Given the description of an element on the screen output the (x, y) to click on. 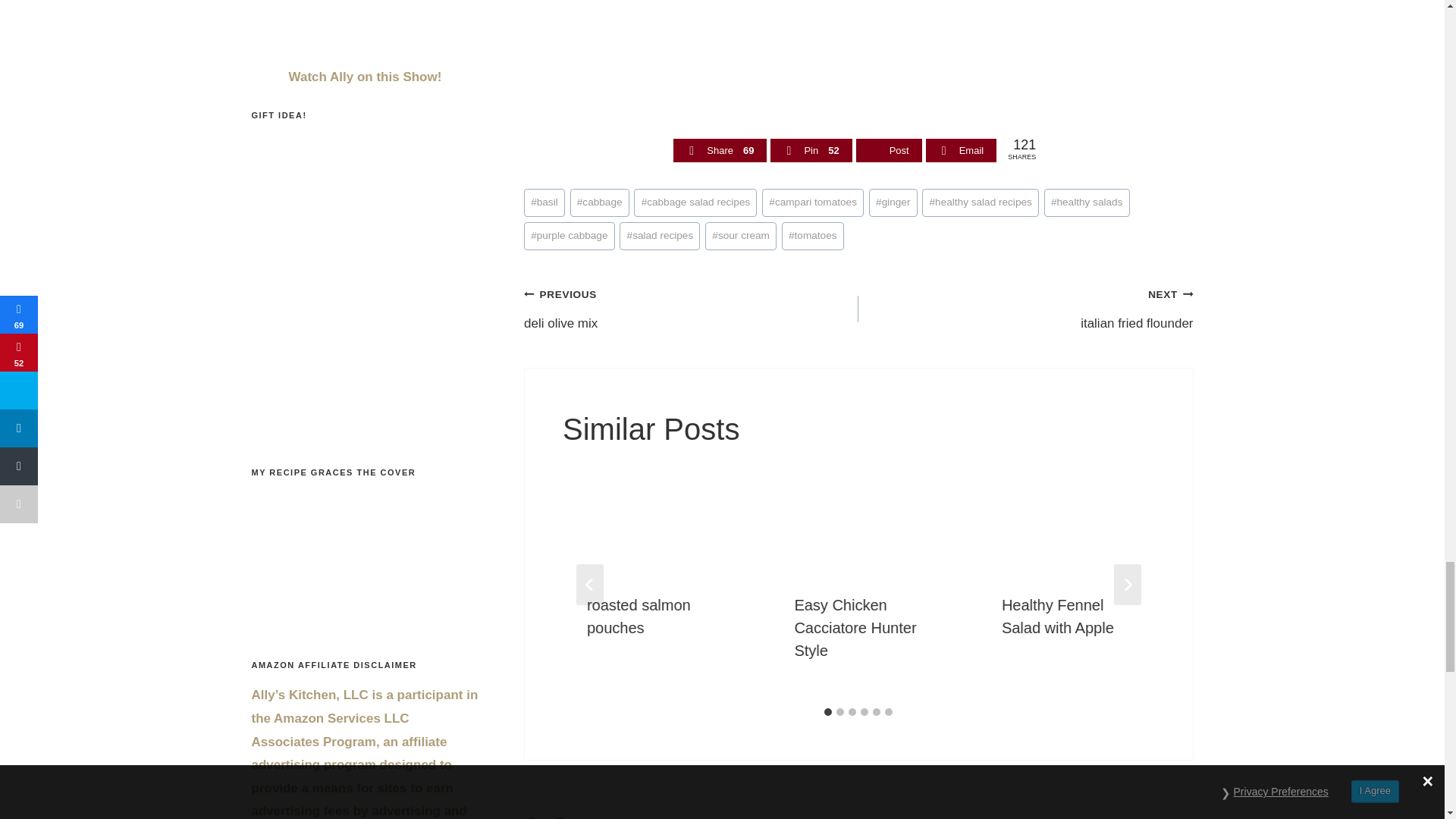
purple cabbage (569, 235)
cabbage salad recipes (695, 203)
sour cream (740, 235)
campari tomatoes (812, 203)
healthy salad recipes (980, 203)
salad recipes (660, 235)
My recipe! Cover of Food Network Magazine! (327, 561)
cabbage (599, 203)
healthy salads (1086, 203)
basil (544, 203)
ginger (893, 203)
tomatoes (812, 235)
